Given the description of an element on the screen output the (x, y) to click on. 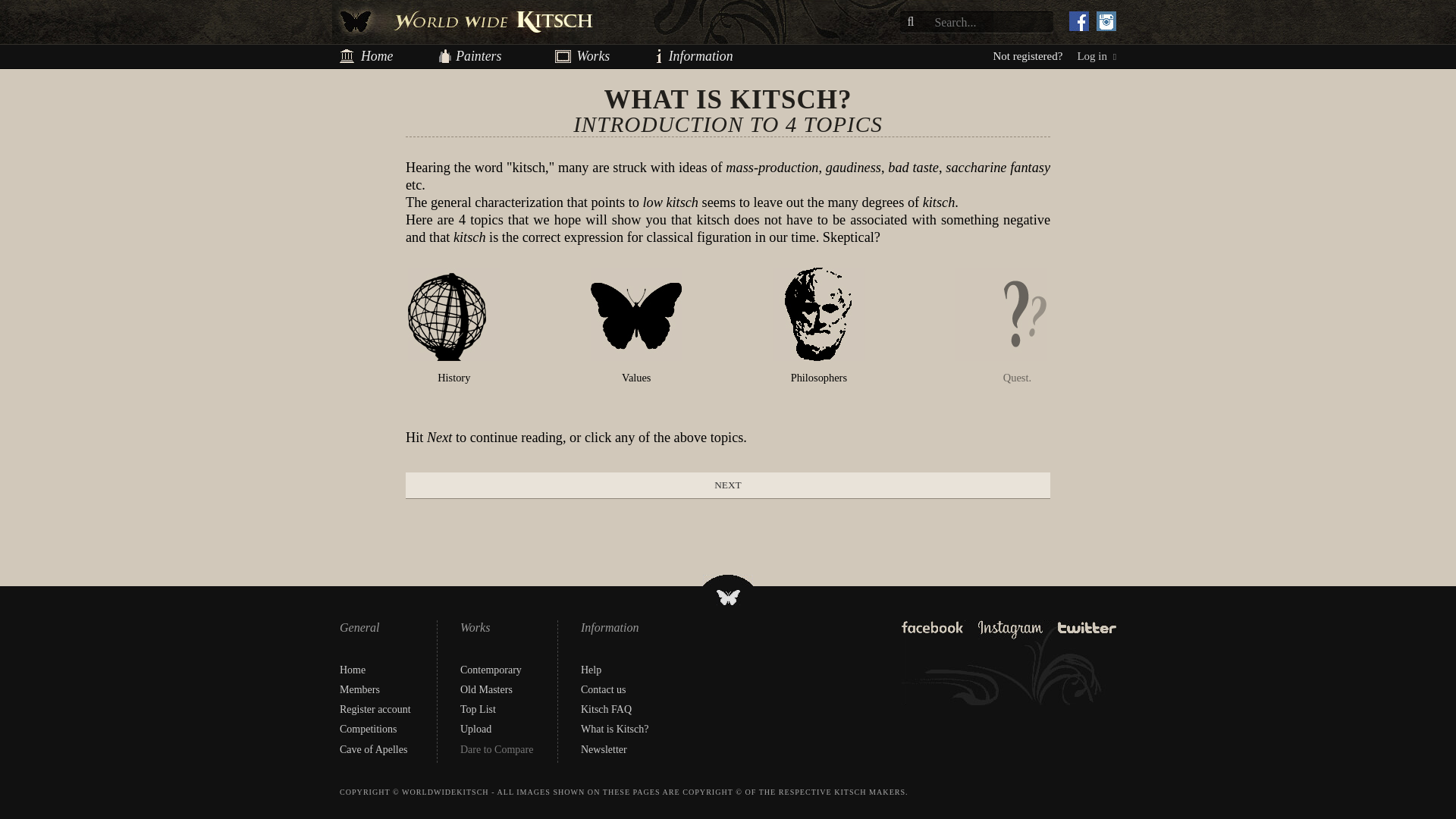
What is Kitsch? (613, 728)
Home (352, 669)
Home (376, 55)
Top List (478, 708)
Upload (476, 728)
Information (668, 56)
Newsletter (603, 749)
Contemporary (490, 669)
home (376, 55)
Painters (478, 55)
